Given the description of an element on the screen output the (x, y) to click on. 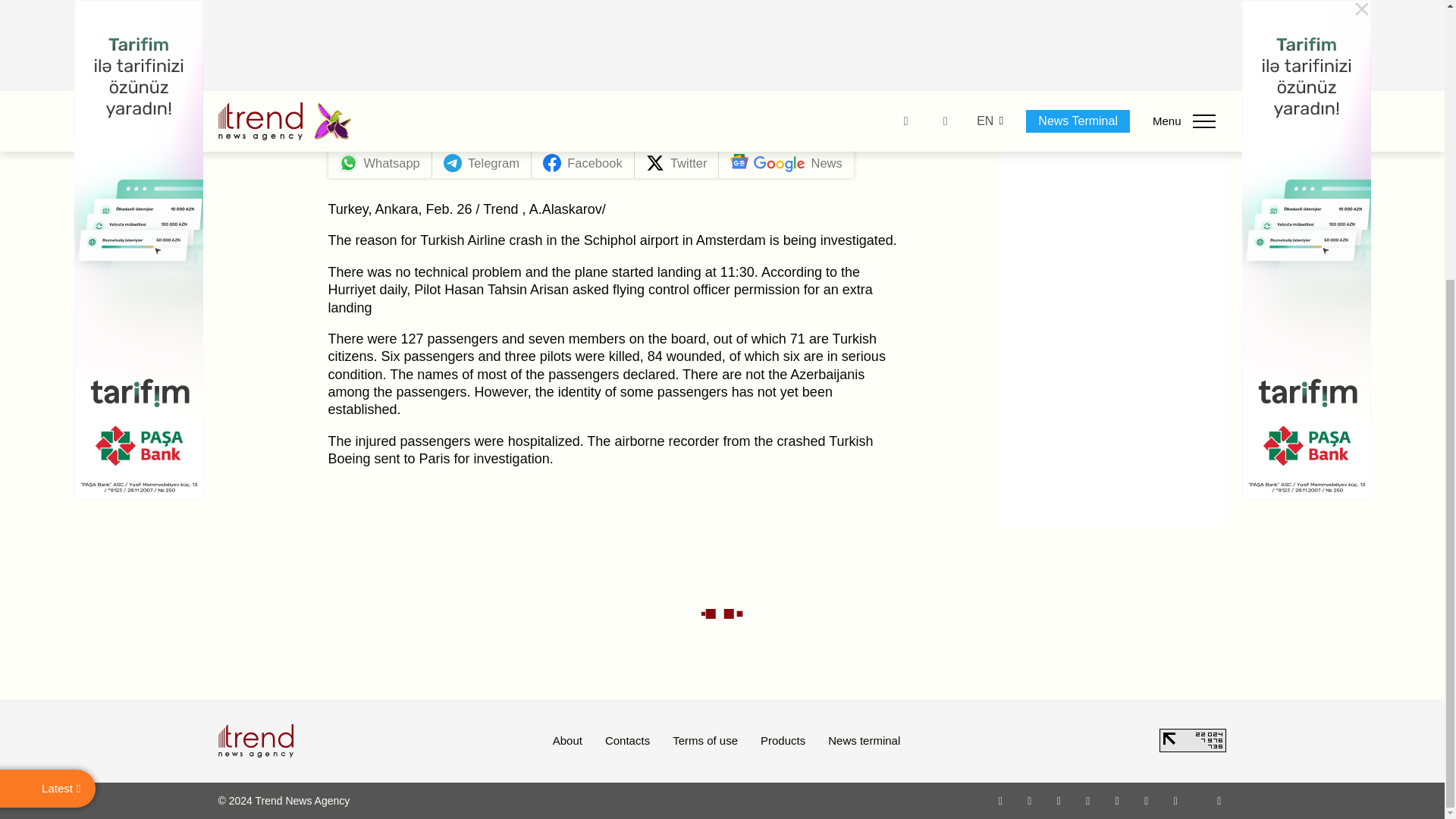
Whatsapp (1000, 800)
Android App (1176, 800)
Telegram (1117, 800)
Youtube (1088, 800)
Twitter (1059, 800)
RSS Feed (1219, 800)
3rd party ad content (1112, 106)
Facebook (1029, 800)
LinkedIn (1146, 800)
